Given the description of an element on the screen output the (x, y) to click on. 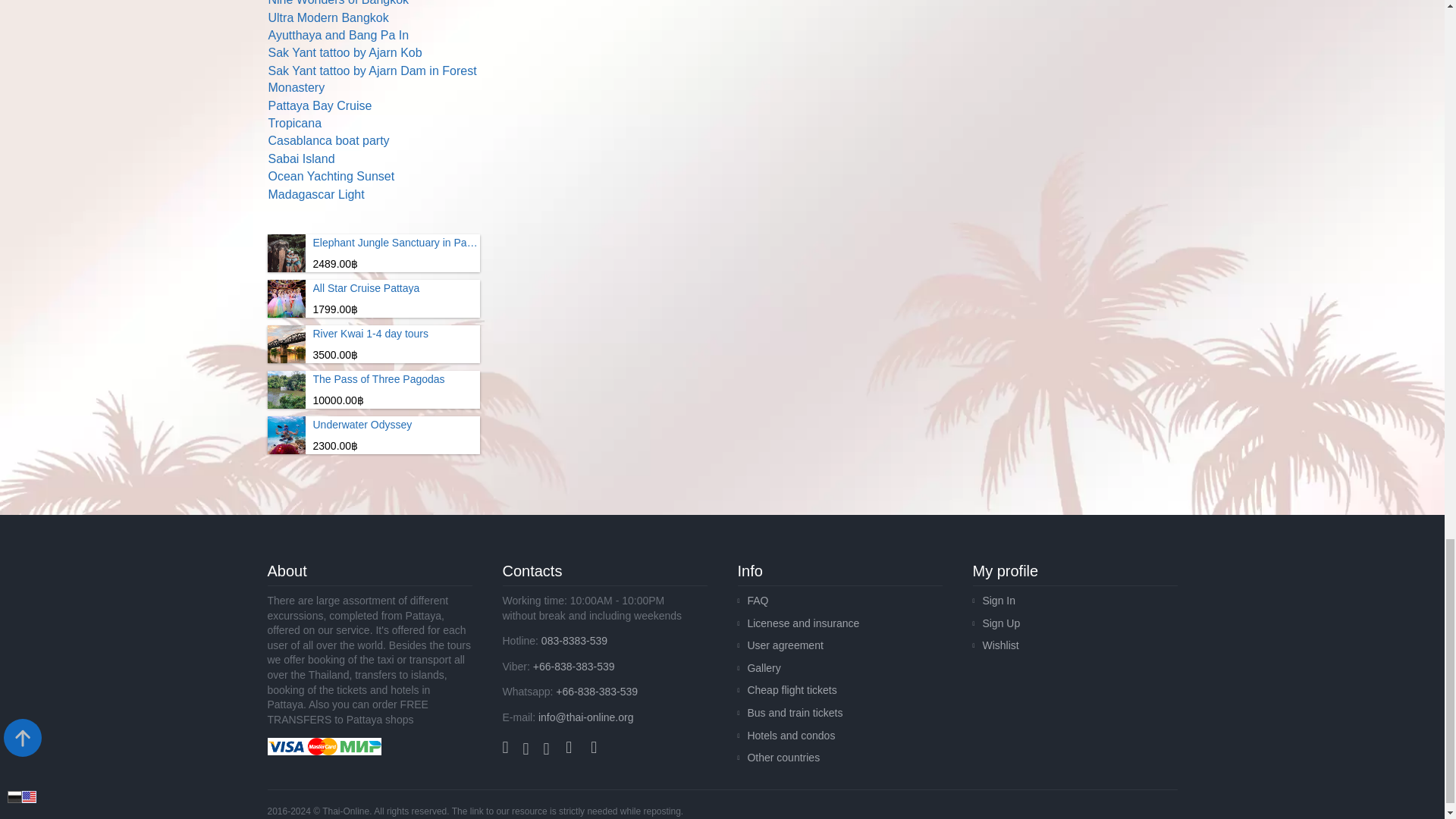
Buy and pay for excursions online in Pattaya (323, 746)
